Given the description of an element on the screen output the (x, y) to click on. 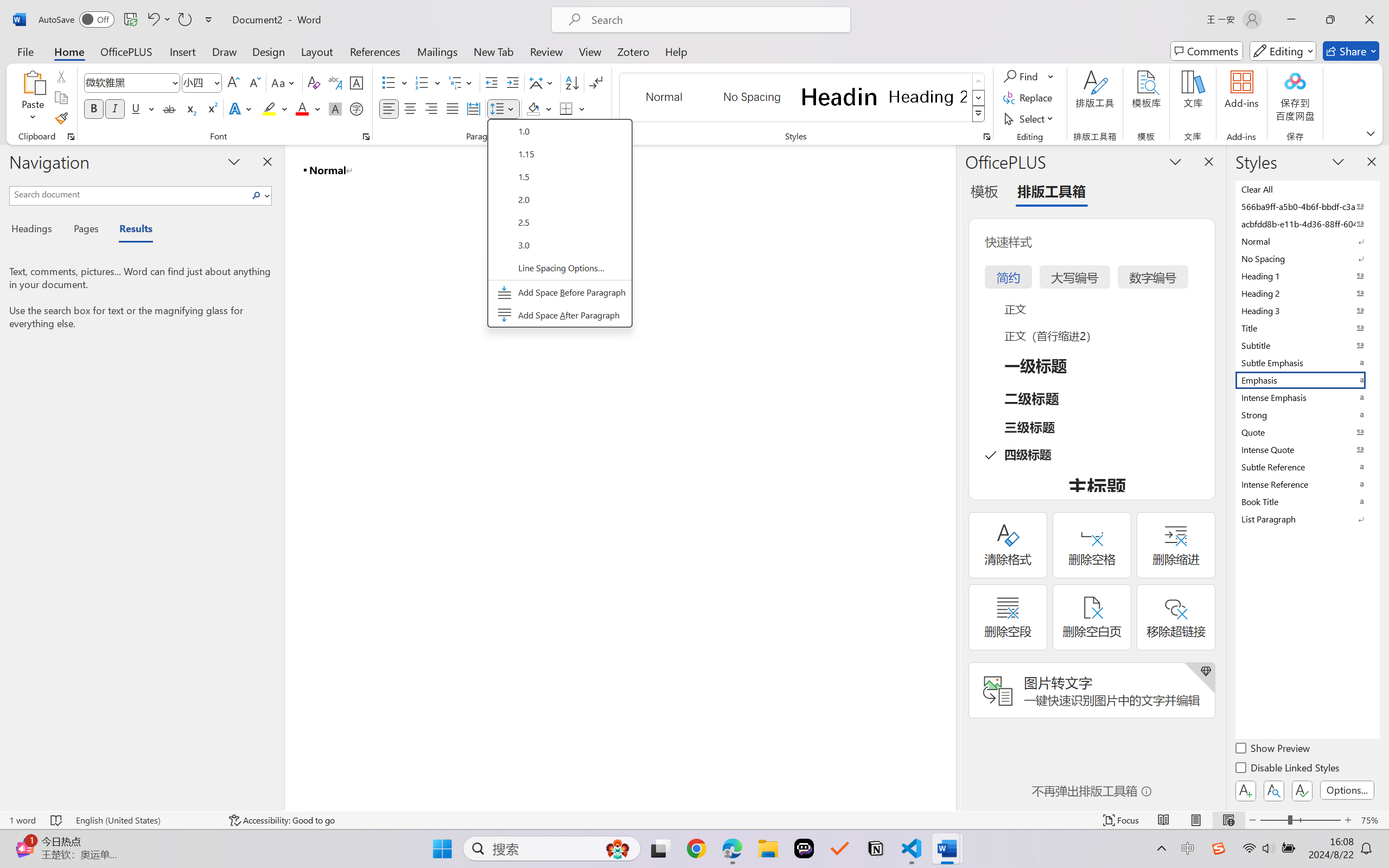
Class: NetUIImage (978, 114)
Options... (1346, 789)
Class: Image (1218, 847)
Multilevel List (461, 82)
Font Size (196, 82)
Poe (804, 848)
Select (1030, 118)
Change Case (284, 82)
Normal (1306, 240)
Word Count 1 word (21, 819)
Format Painter (60, 118)
